Given the description of an element on the screen output the (x, y) to click on. 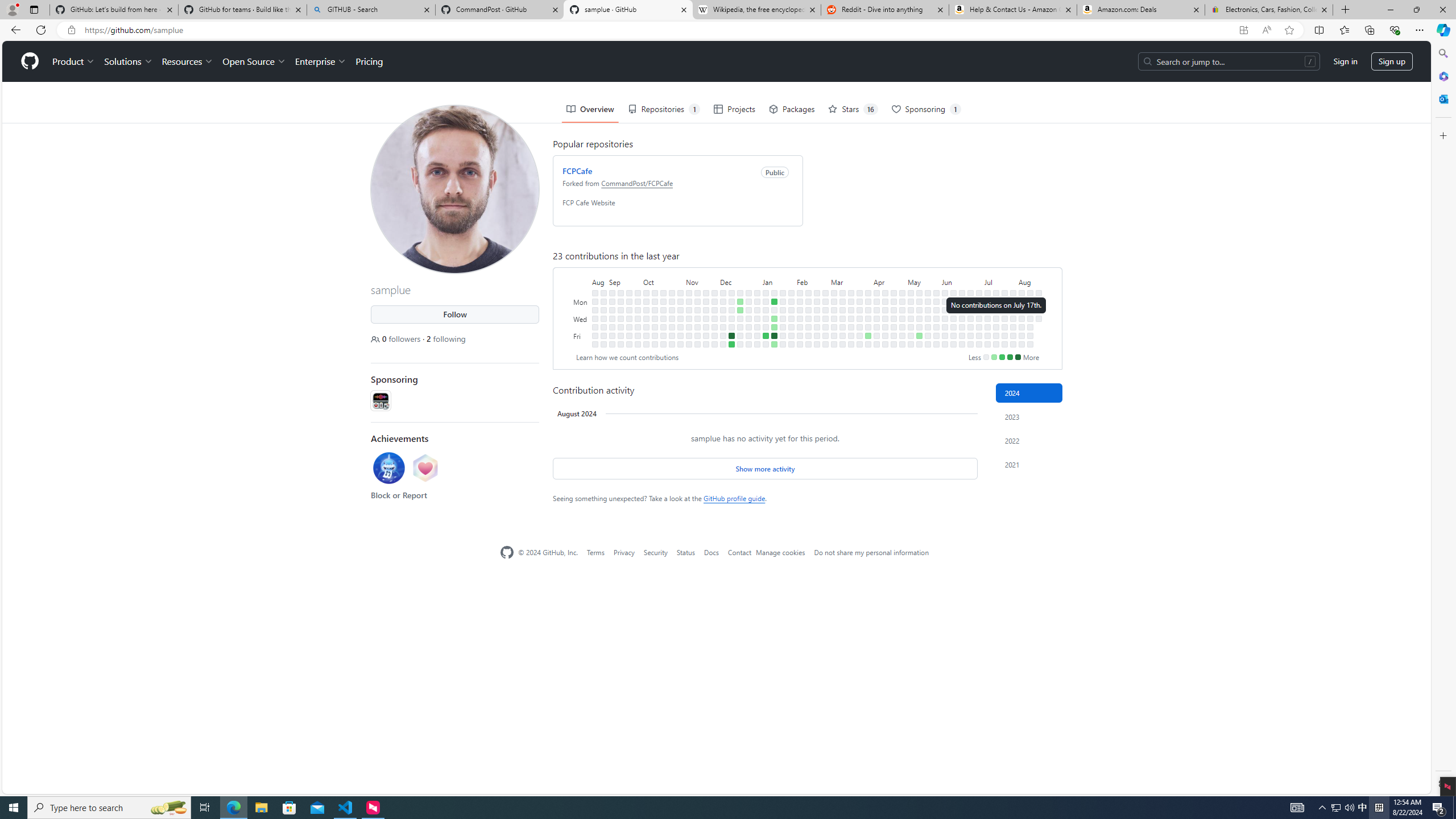
No contributions on September 29th. (637, 335)
No contributions on August 24th. (595, 326)
No contributions on August 9th. (1022, 335)
No contributions on October 30th. (680, 301)
No contributions on June 28th. (970, 335)
No contributions on March 28th. (859, 326)
FCPCafe (577, 170)
No contributions on May 20th. (927, 301)
No contributions on November 30th. (714, 326)
No contributions on November 27th. (714, 301)
No contributions on February 5th. (799, 301)
0 followers  (397, 338)
No contributions on March 25th. (859, 301)
